Given the description of an element on the screen output the (x, y) to click on. 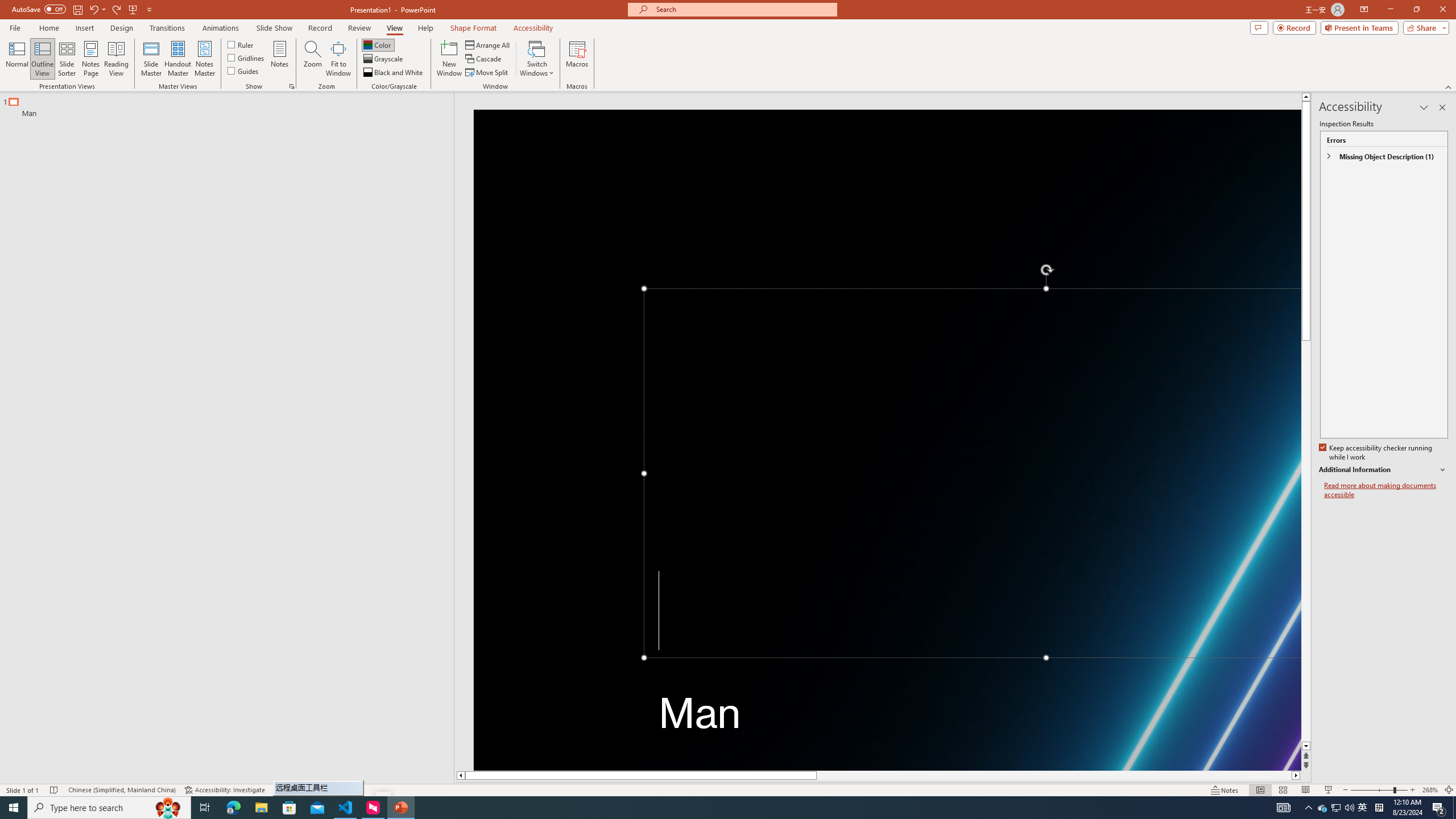
Gridlines (246, 56)
Grid Settings... (291, 85)
Black and White (393, 72)
Cascade (484, 58)
